Given the description of an element on the screen output the (x, y) to click on. 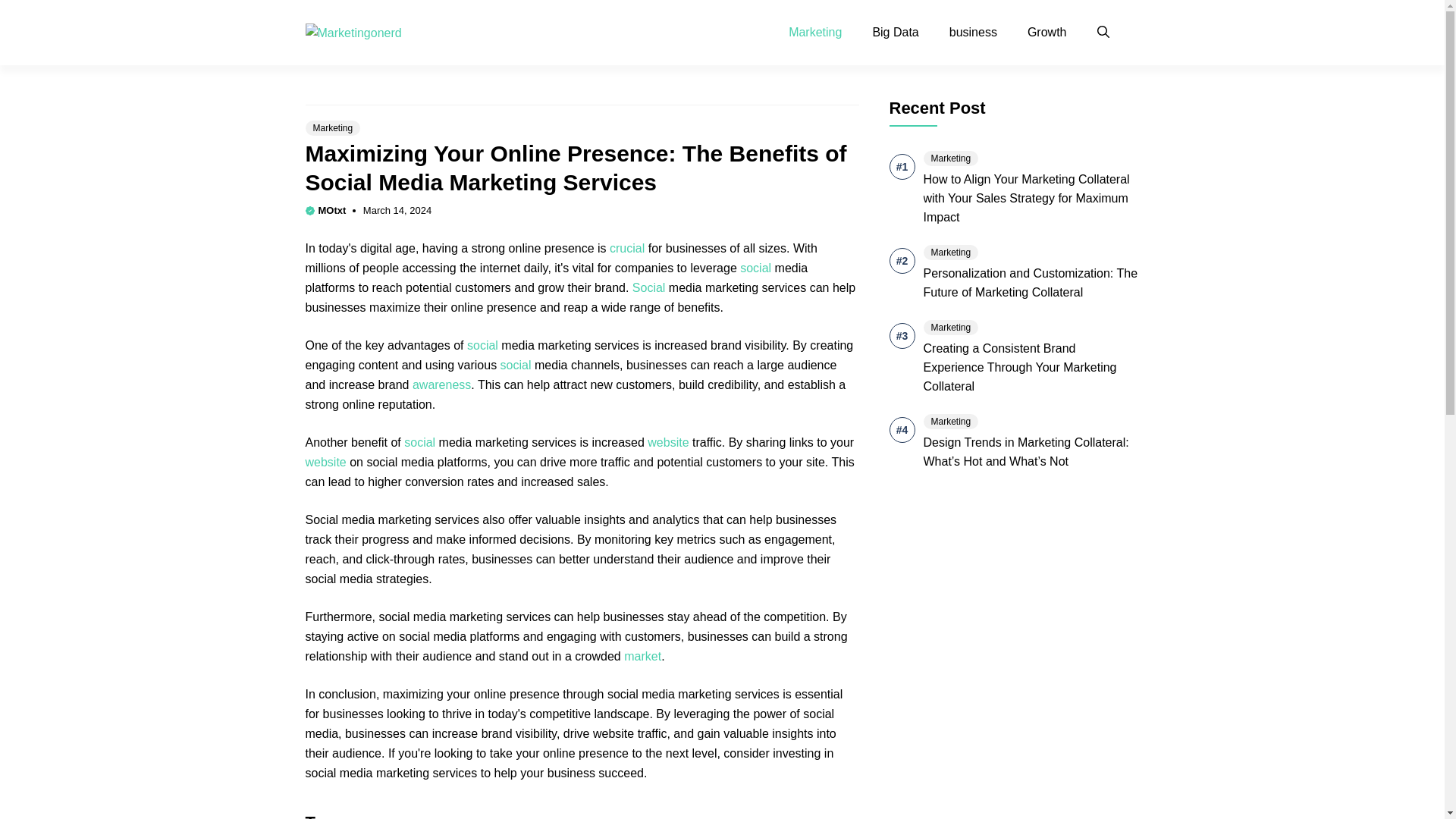
Posts tagged with Social (482, 345)
social (515, 364)
business (972, 32)
Growth (1046, 32)
Posts tagged with Website (325, 461)
Posts tagged with Website (667, 441)
Posts tagged with Social (515, 364)
Social (648, 287)
MOtxt (332, 210)
Posts tagged with Awareness (441, 384)
Marketing (815, 32)
social (755, 267)
Posts tagged with Social (419, 441)
Big Data (895, 32)
Posts tagged with Social (755, 267)
